Given the description of an element on the screen output the (x, y) to click on. 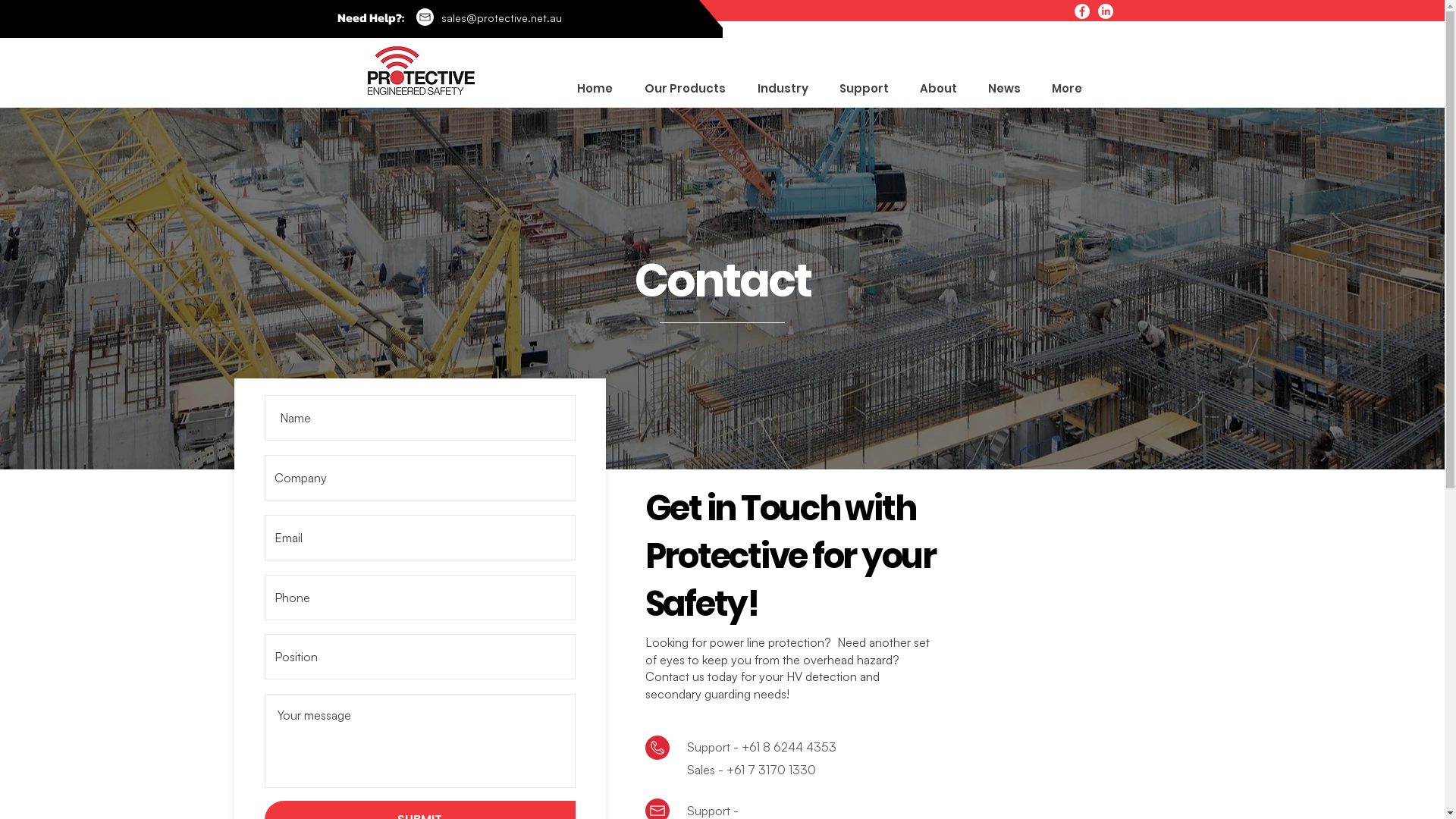
News Element type: text (999, 88)
Support - +61 8 6244 4353 Element type: text (761, 746)
sales@protective.net.au Element type: text (501, 17)
Support Element type: text (859, 88)
Sales - +61 7 3170 1330 Element type: text (751, 769)
Industry Element type: text (778, 88)
Home Element type: text (590, 88)
